Given the description of an element on the screen output the (x, y) to click on. 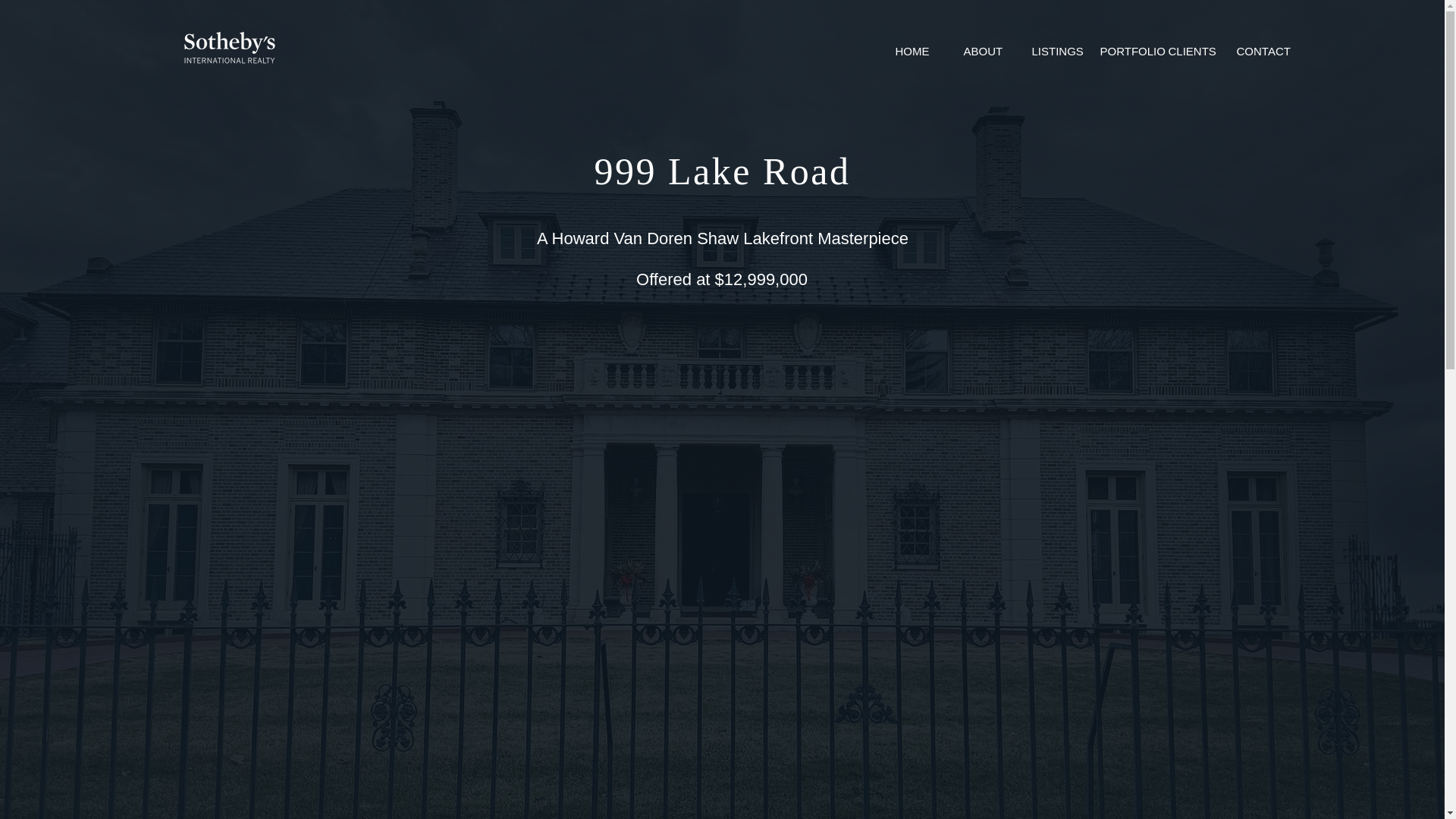
CONTACT (1259, 51)
ABOUT (986, 51)
HOME (917, 51)
PORTFOLIO (1123, 51)
